Given the description of an element on the screen output the (x, y) to click on. 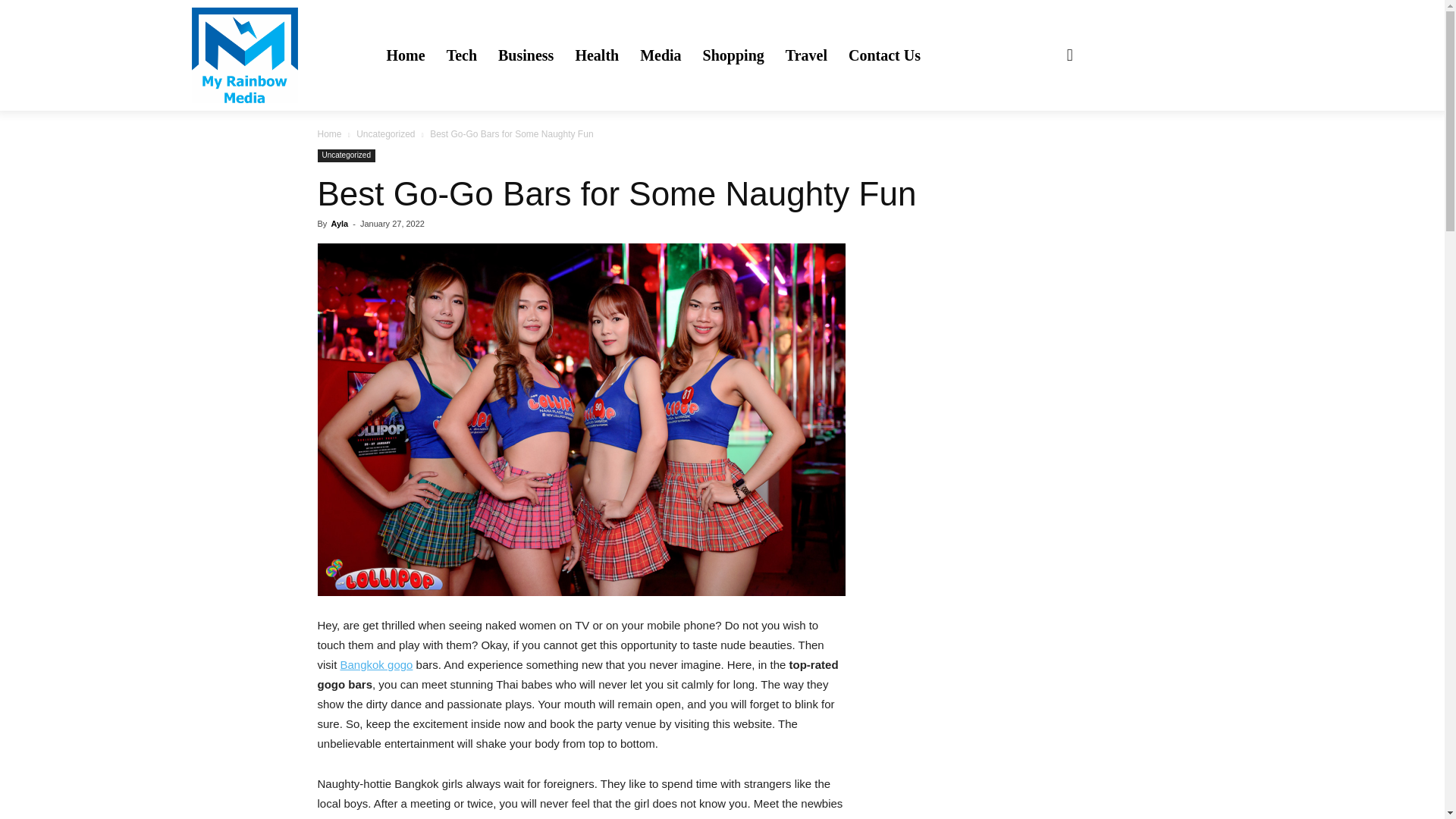
View all posts in Uncategorized (385, 133)
